Given the description of an element on the screen output the (x, y) to click on. 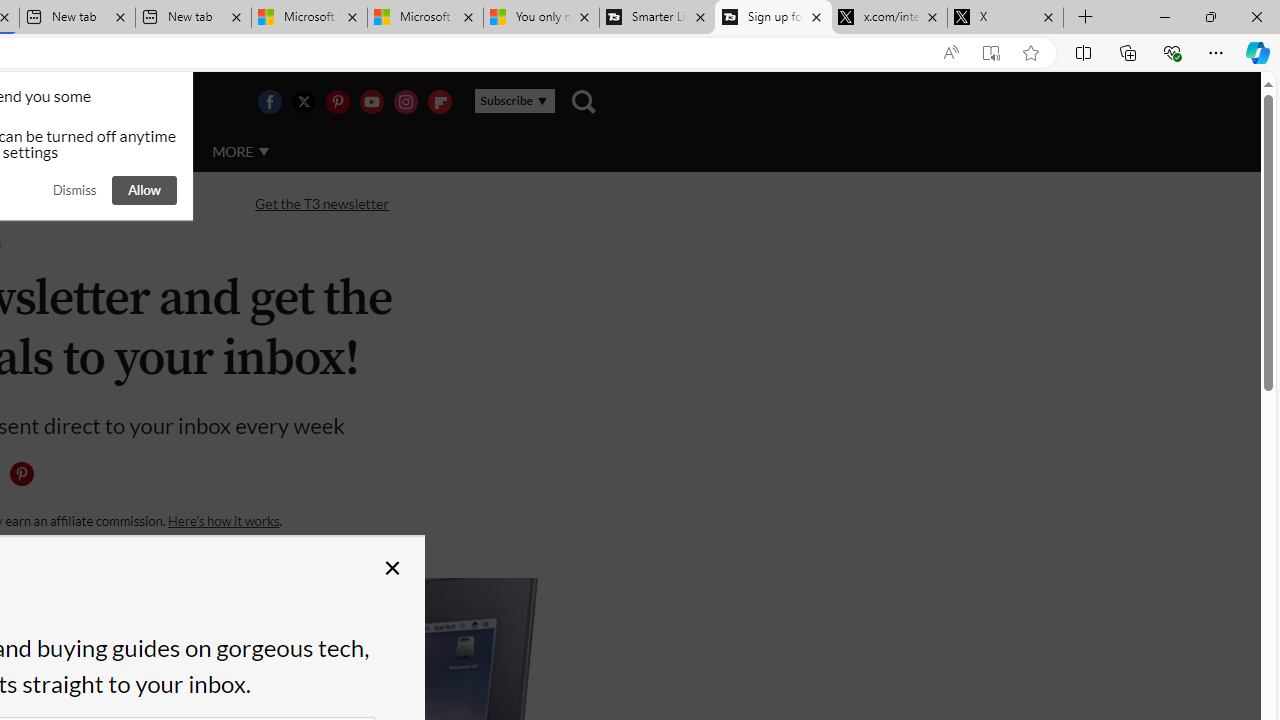
AUTO (153, 151)
